Given the description of an element on the screen output the (x, y) to click on. 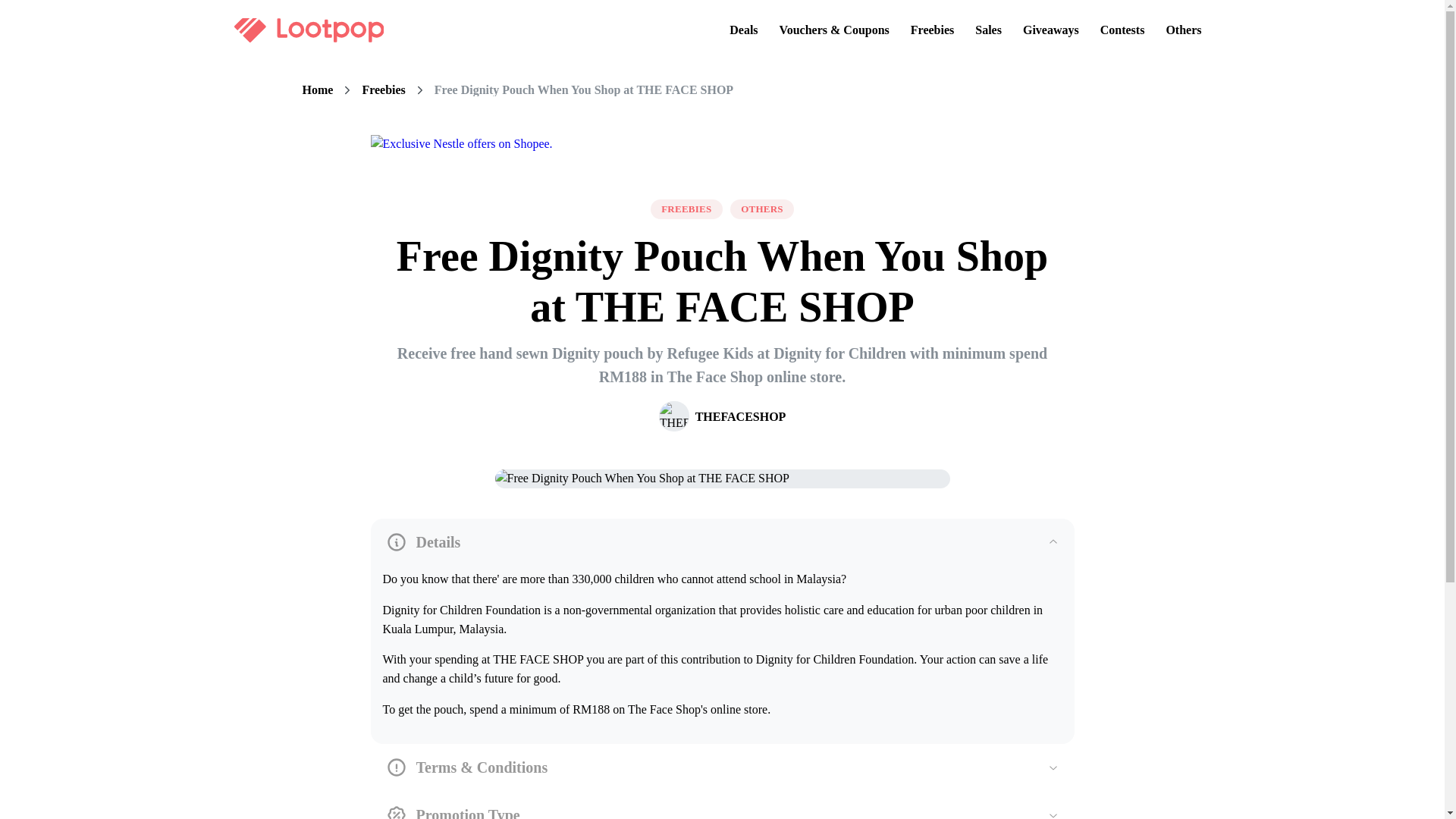
FREEBIES (686, 209)
Freebies (382, 90)
Others (1182, 30)
Home (317, 90)
Freebies (931, 30)
Sales (988, 30)
OTHERS (761, 209)
Contests (1122, 30)
THEFACESHOP (722, 416)
Details (721, 542)
Giveaways (1050, 30)
Deals (743, 30)
Promotion Type (721, 805)
